Given the description of an element on the screen output the (x, y) to click on. 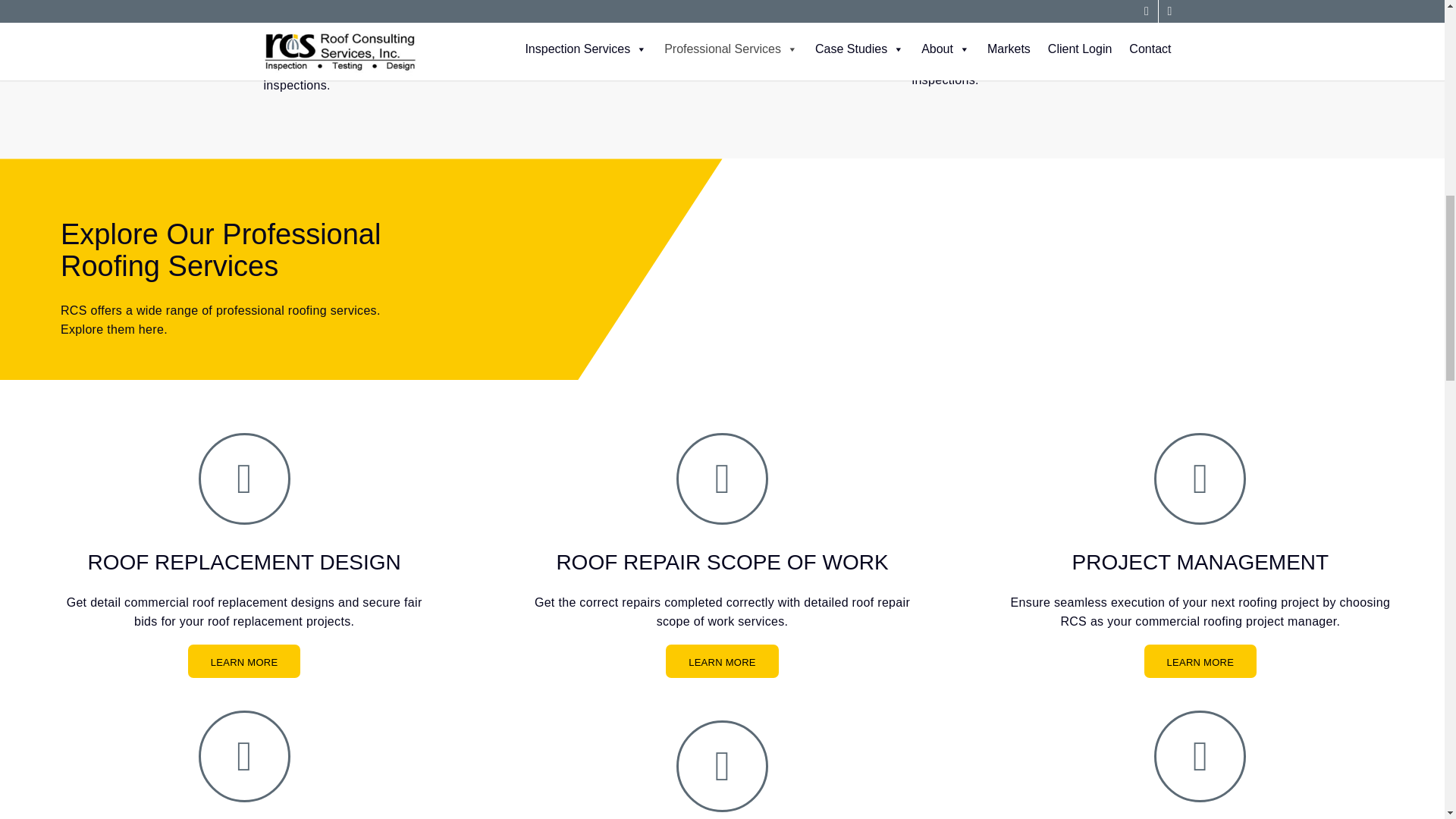
LEARN MORE (1200, 661)
LEARN MORE (244, 661)
LEARN MORE (721, 661)
